Given the description of an element on the screen output the (x, y) to click on. 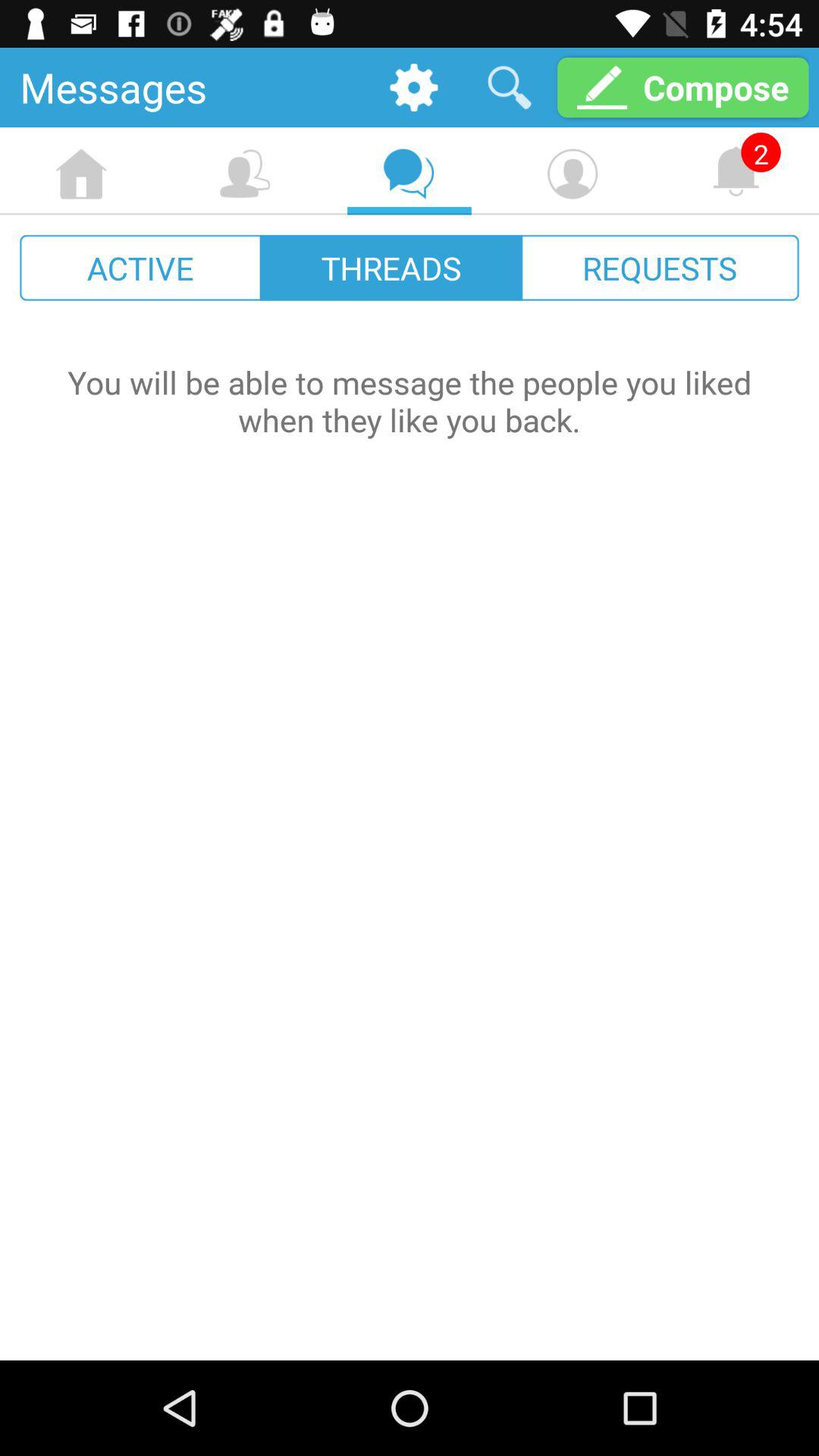
scroll to threads (390, 267)
